Given the description of an element on the screen output the (x, y) to click on. 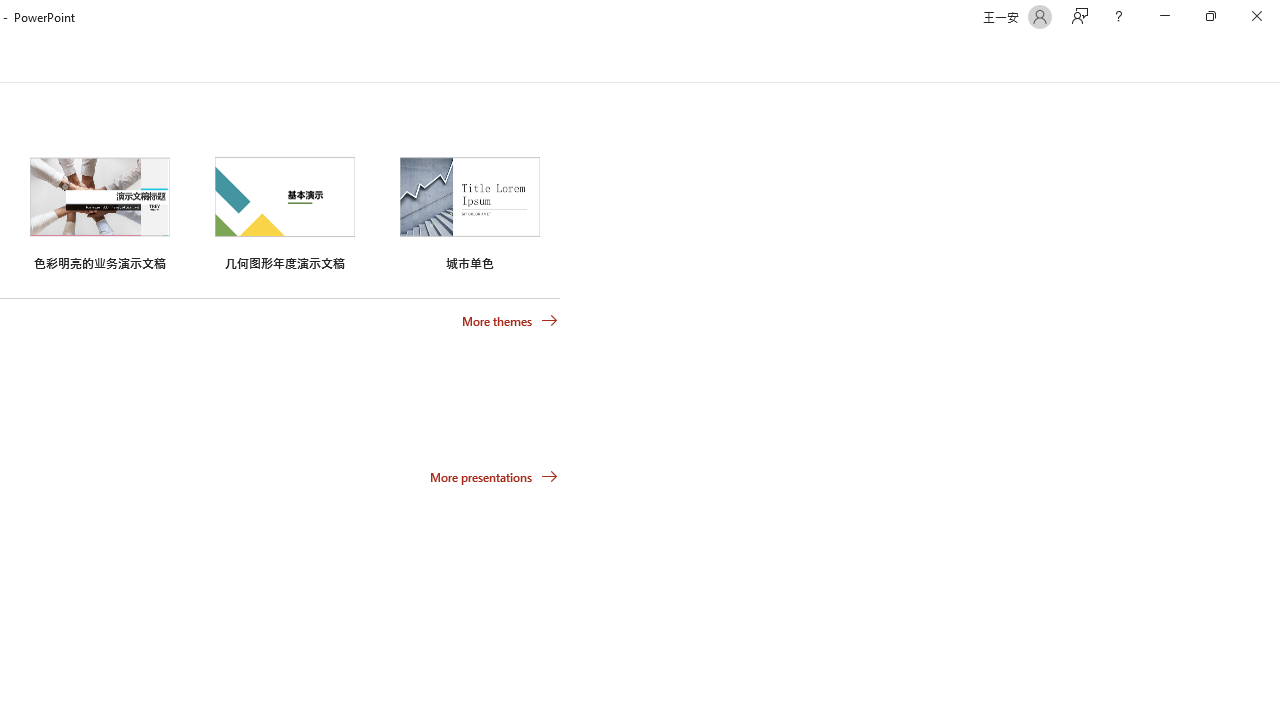
More presentations (493, 476)
Class: NetUIScrollBar (1271, 59)
More themes (509, 321)
